Given the description of an element on the screen output the (x, y) to click on. 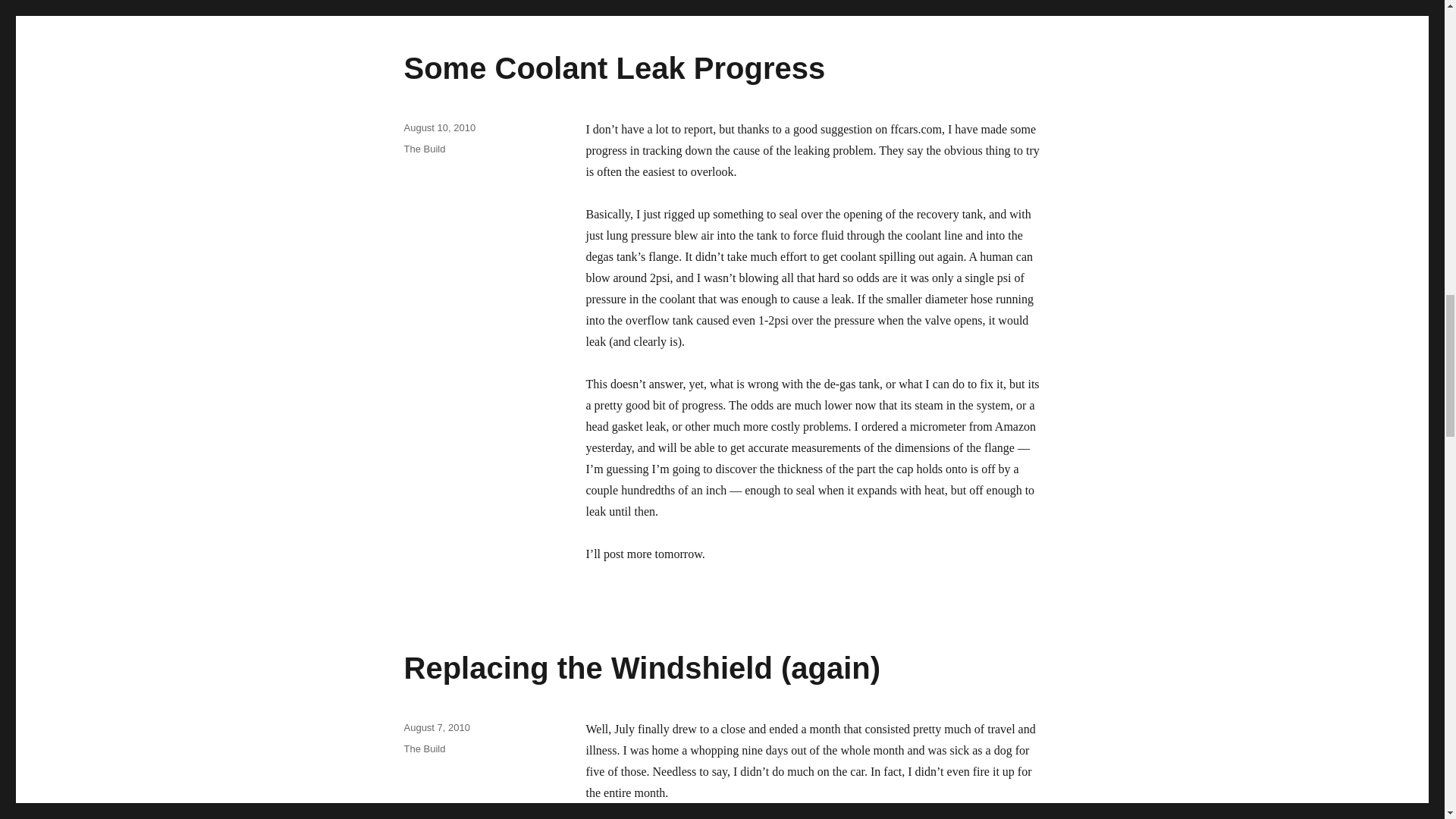
The Build (424, 148)
August 7, 2010 (435, 727)
August 10, 2010 (439, 127)
The Build (424, 748)
Some Coolant Leak Progress (614, 68)
